Given the description of an element on the screen output the (x, y) to click on. 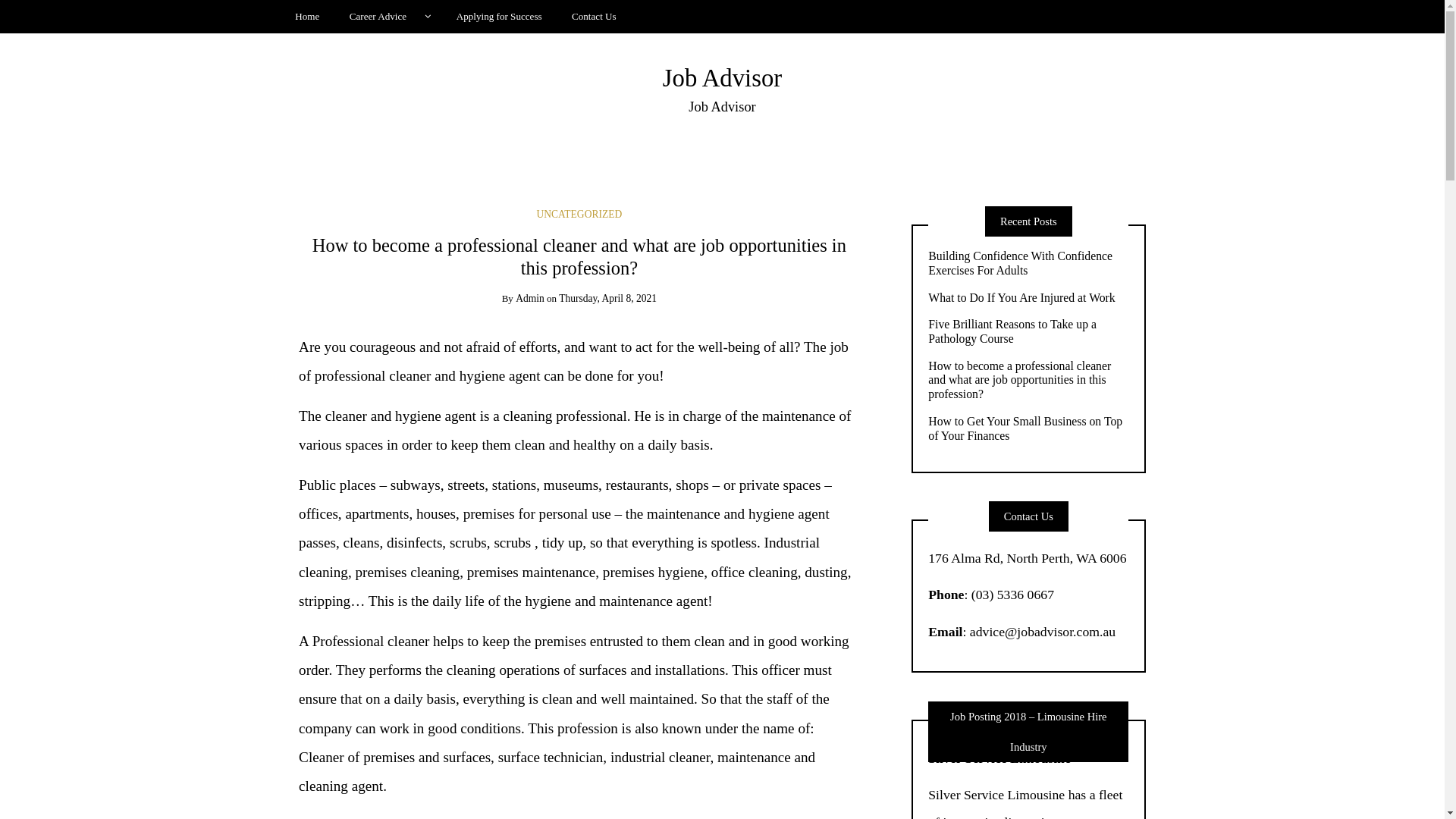
Job Advisor Element type: text (721, 77)
Admin Element type: text (529, 298)
UNCATEGORIZED Element type: text (578, 213)
Thursday, April 8, 2021 Element type: text (607, 298)
How to Get Your Small Business on Top of Your Finances Element type: text (1028, 428)
What to Do If You Are Injured at Work Element type: text (1028, 298)
Home Element type: text (307, 16)
Contact Us Element type: text (594, 16)
Applying for Success Element type: text (498, 16)
Building Confidence With Confidence Exercises For Adults Element type: text (1028, 263)
Career Advice Element type: text (387, 16)
Five Brilliant Reasons to Take up a Pathology Course Element type: text (1028, 331)
